Given the description of an element on the screen output the (x, y) to click on. 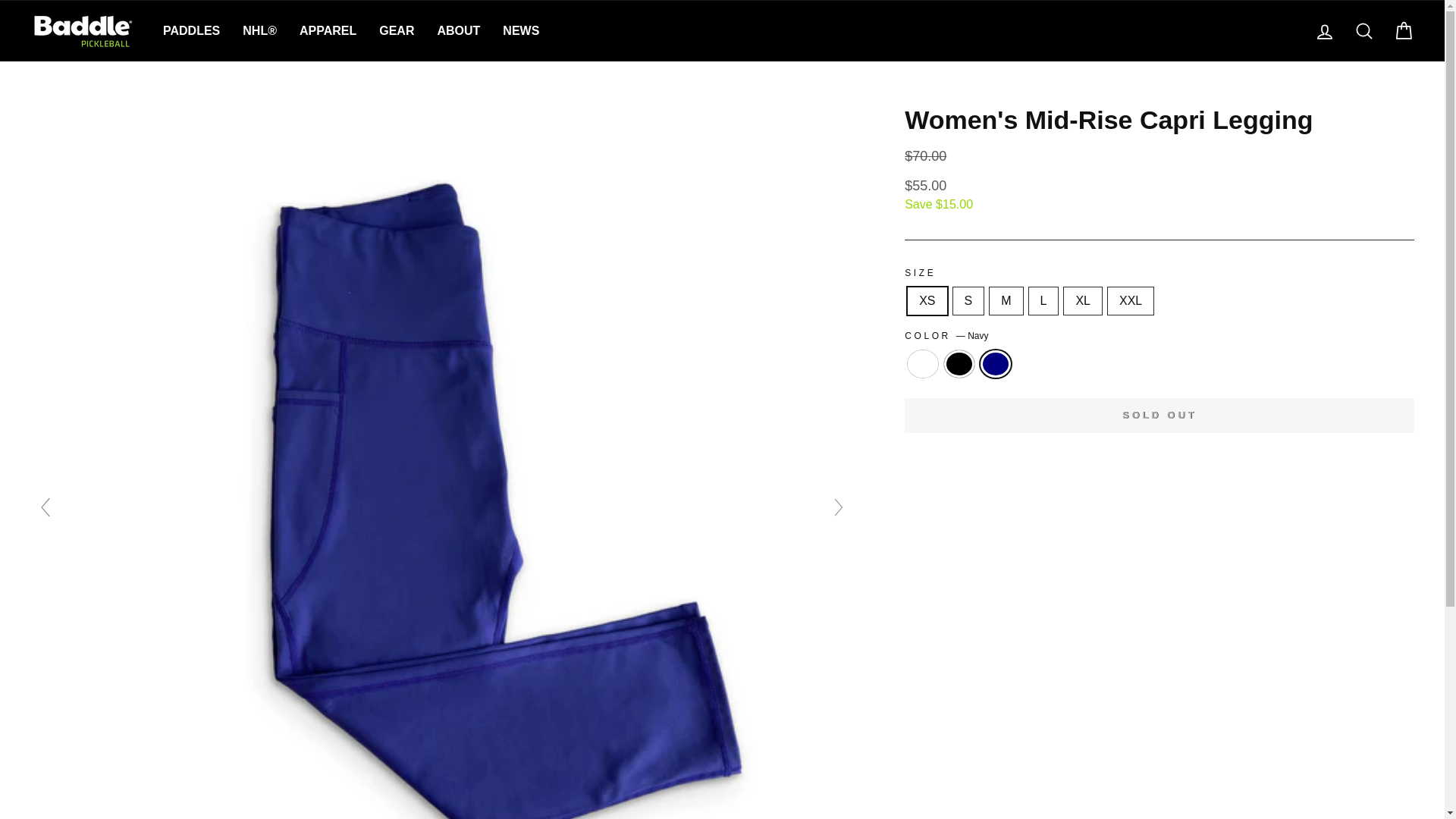
PADDLES (191, 31)
APPAREL (328, 31)
GEAR (396, 31)
ABOUT (458, 31)
NEWS (521, 31)
